Given the description of an element on the screen output the (x, y) to click on. 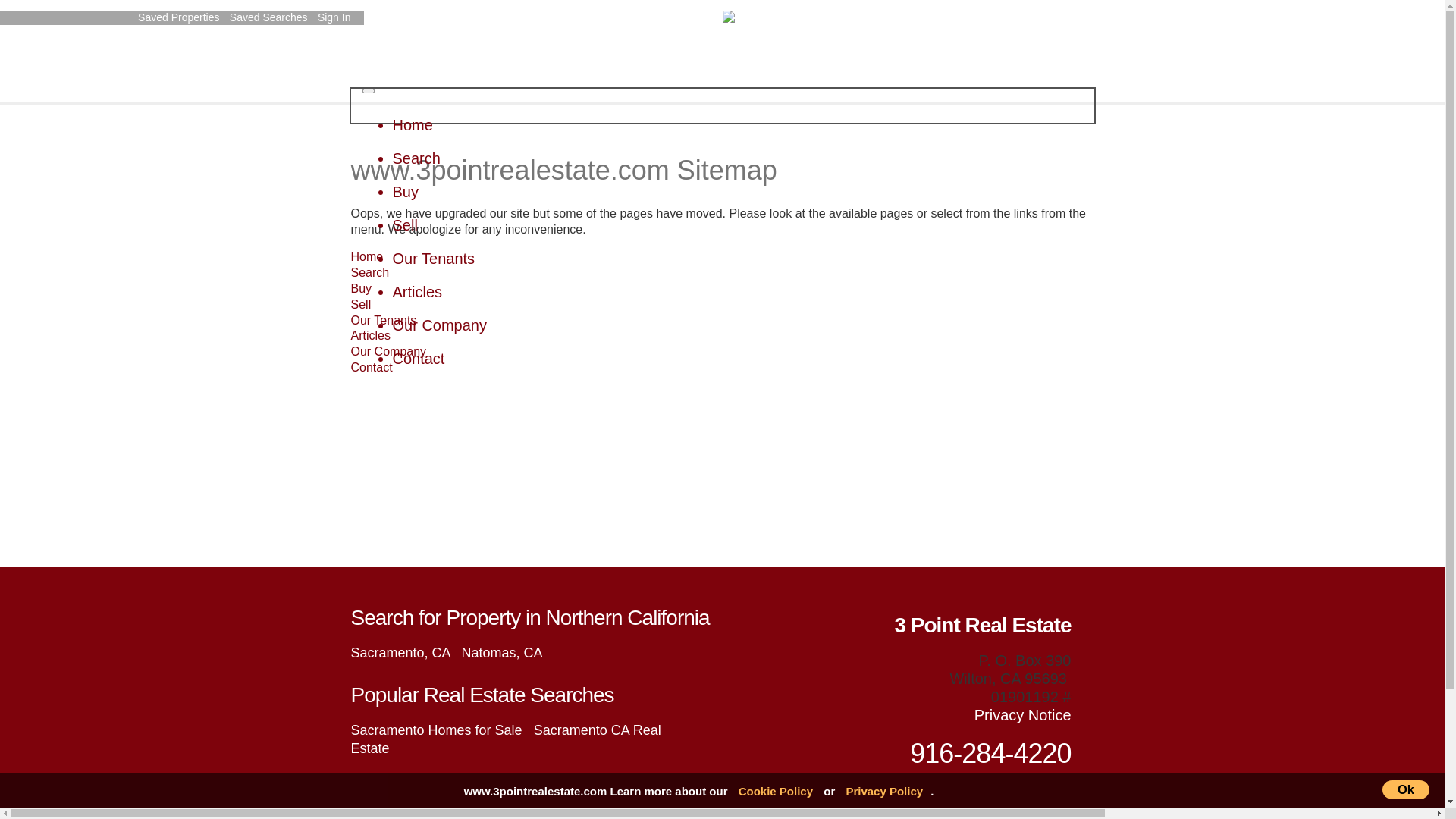
Sell Element type: text (360, 304)
Cookie Policy Element type: text (775, 792)
Home Element type: text (366, 256)
Home Element type: text (412, 124)
Buy Element type: text (360, 288)
Articles Element type: text (417, 291)
Articles Element type: text (369, 335)
Sacramento Homes for Sale Element type: text (435, 729)
Privacy Notice Element type: text (1022, 714)
Sacramento, CA Element type: text (399, 652)
Search Element type: text (416, 158)
Privacy Policy Element type: text (883, 792)
Sacramento CA Real Estate Element type: text (505, 739)
Saved Properties Element type: text (180, 17)
Sell Element type: text (404, 224)
Toggle navigation Element type: text (368, 90)
Buy Element type: text (405, 191)
Our Company Element type: text (388, 351)
Natomas, CA Element type: text (501, 652)
Saved Searches Element type: text (270, 17)
Contact Element type: text (418, 358)
Our Tenants Element type: text (383, 319)
Our Tenants Element type: text (433, 258)
Search Element type: text (369, 272)
Sign In Element type: text (336, 17)
Our Company Element type: text (439, 324)
Ok Element type: text (1405, 789)
Contact Element type: text (371, 366)
